Given the description of an element on the screen output the (x, y) to click on. 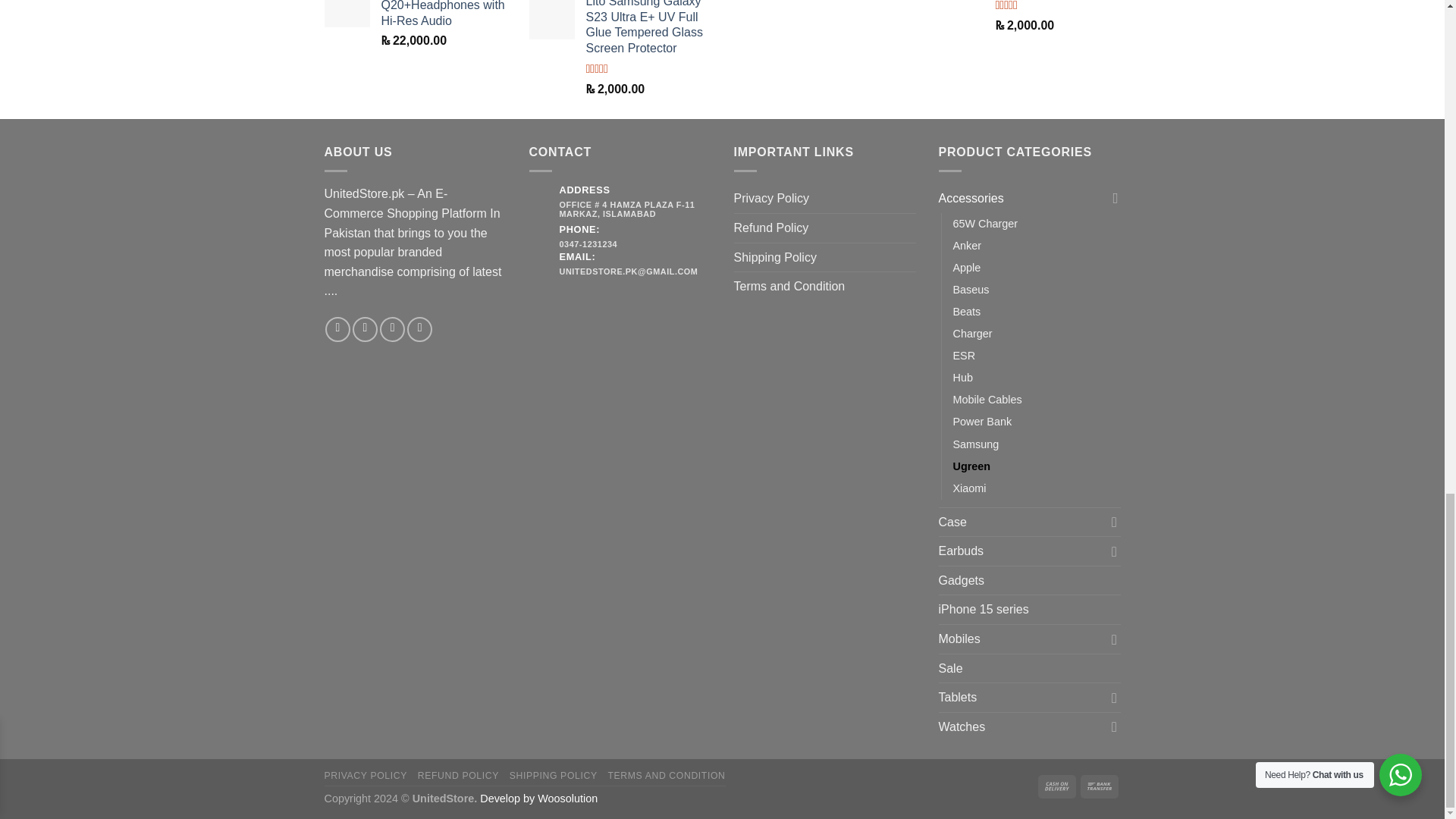
Call us (419, 329)
Send us an email (392, 329)
Follow on Facebook (337, 329)
Follow on Instagram (364, 329)
